Given the description of an element on the screen output the (x, y) to click on. 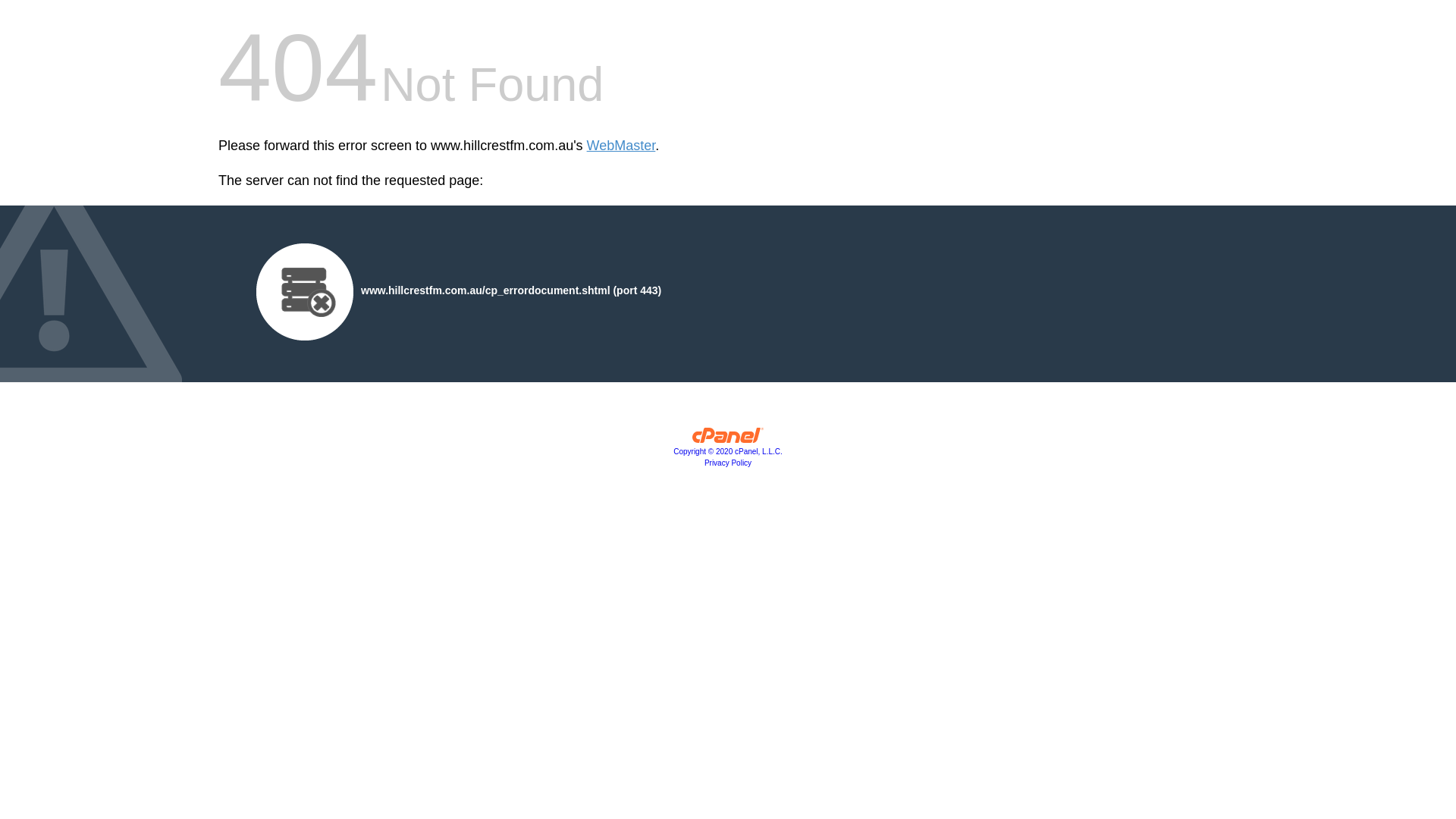
Privacy Policy Element type: text (727, 462)
WebMaster Element type: text (620, 145)
cPanel, Inc. Element type: hover (728, 439)
